Given the description of an element on the screen output the (x, y) to click on. 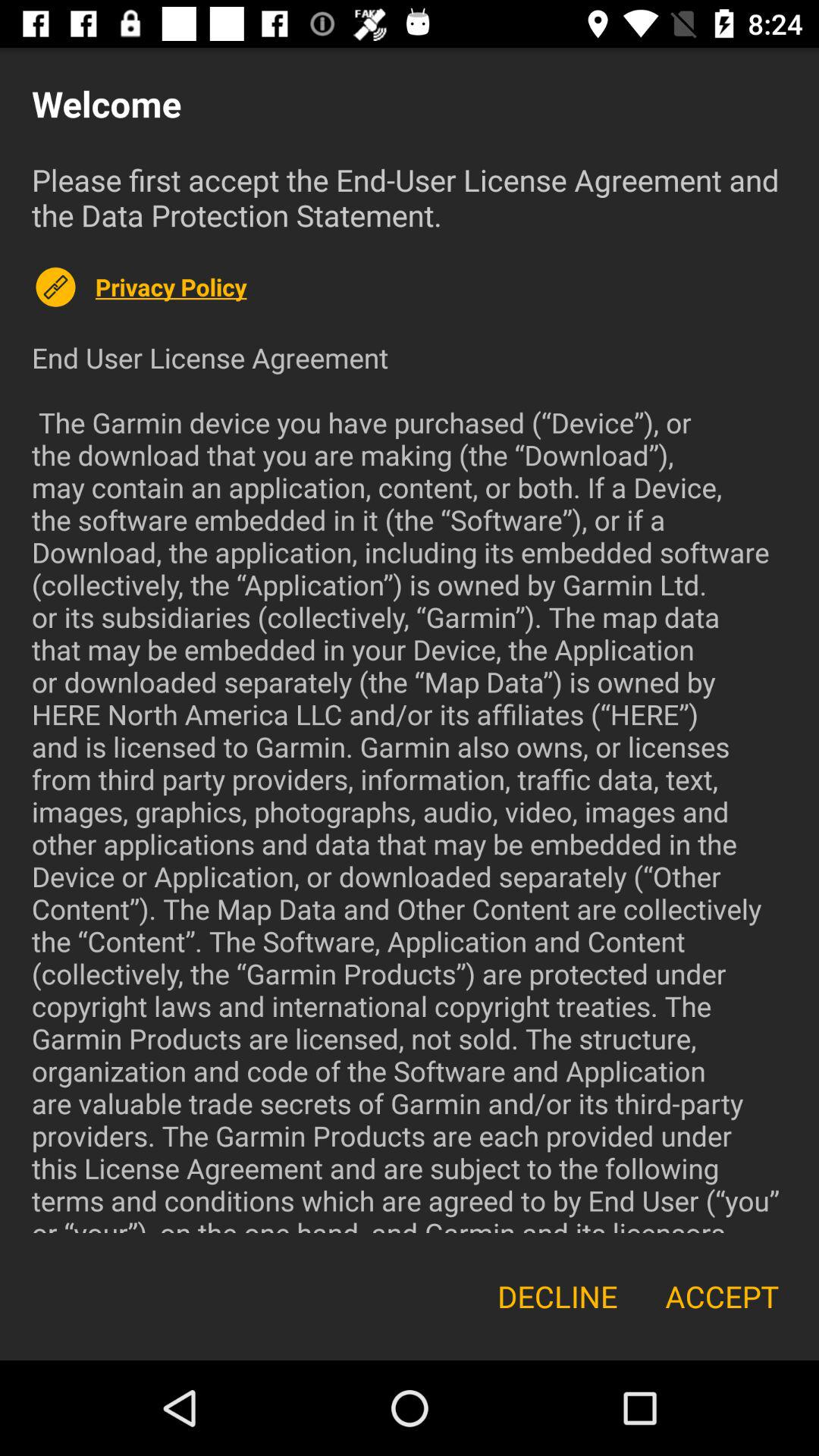
turn on icon below the end user license item (557, 1296)
